Given the description of an element on the screen output the (x, y) to click on. 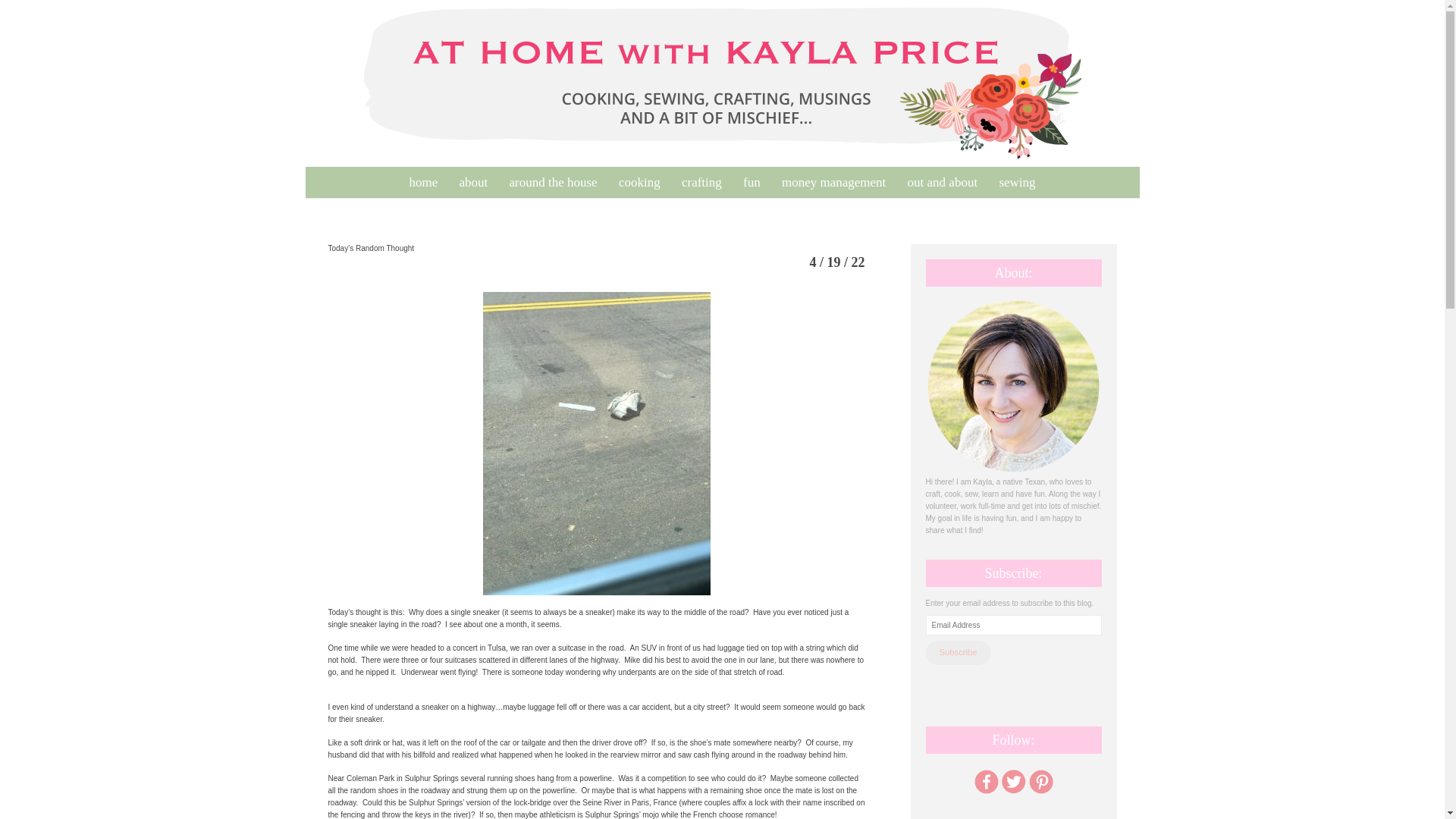
out and about (942, 182)
Subscribe (957, 652)
home (422, 182)
sewing (1016, 182)
skip to content (313, 175)
Twitter (1012, 781)
about (472, 182)
cooking (639, 182)
money management (834, 182)
crafting (701, 182)
around the house (553, 182)
Search (29, 14)
fun (751, 182)
Pinterest (1040, 781)
Facebook (985, 781)
